Given the description of an element on the screen output the (x, y) to click on. 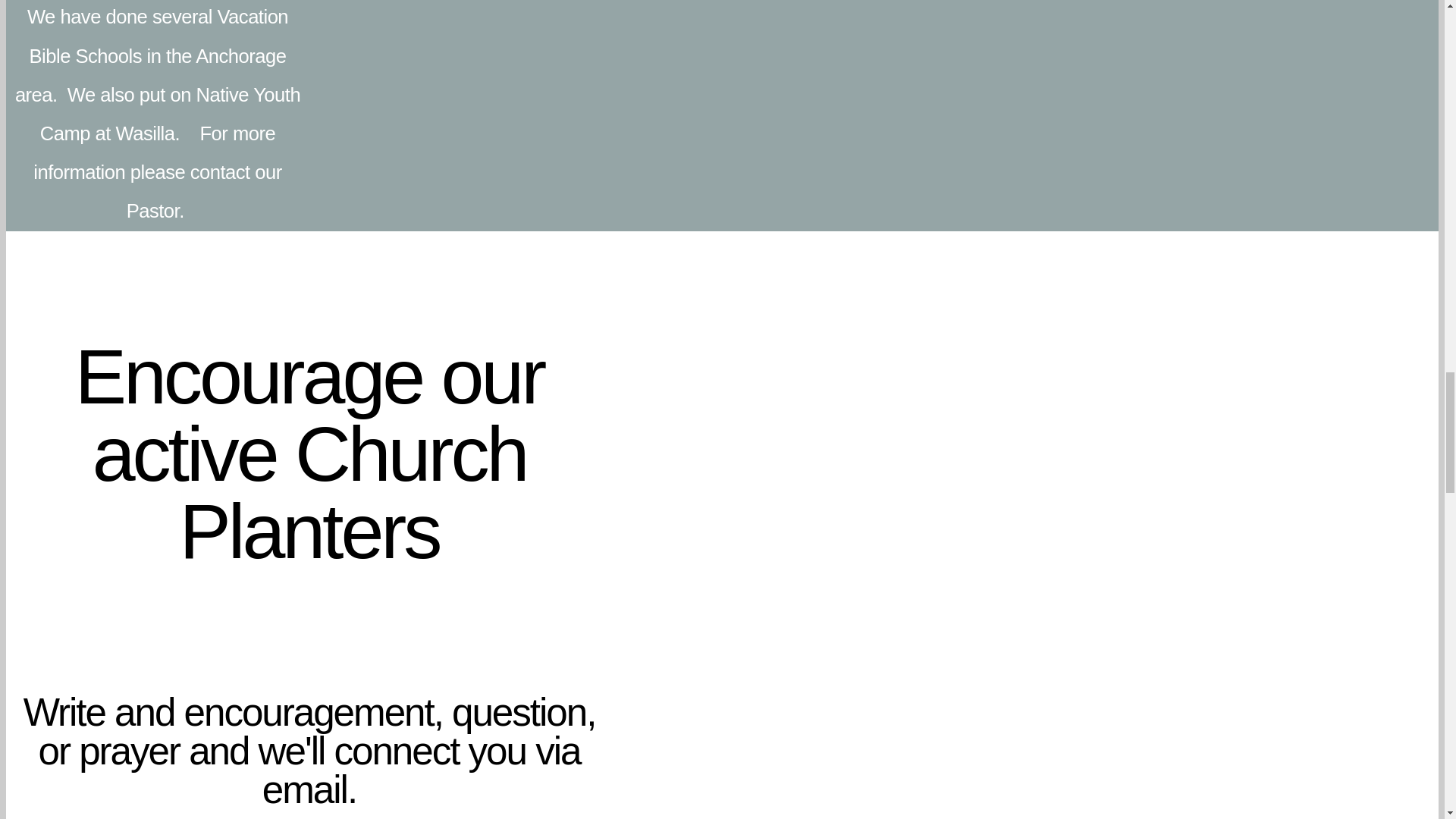
MORE INFORMATION (721, 250)
